Given the description of an element on the screen output the (x, y) to click on. 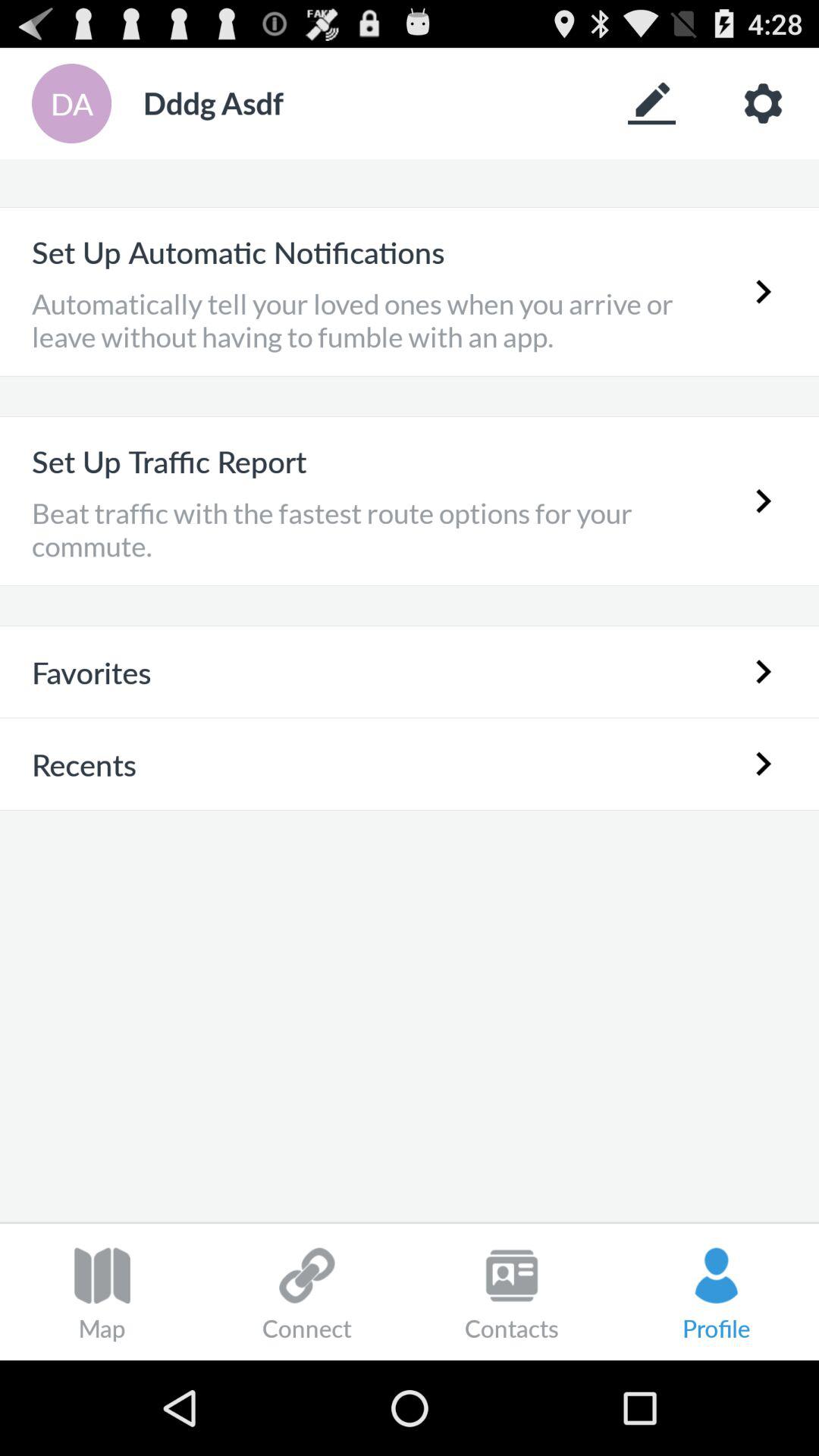
show app settings (763, 103)
